Given the description of an element on the screen output the (x, y) to click on. 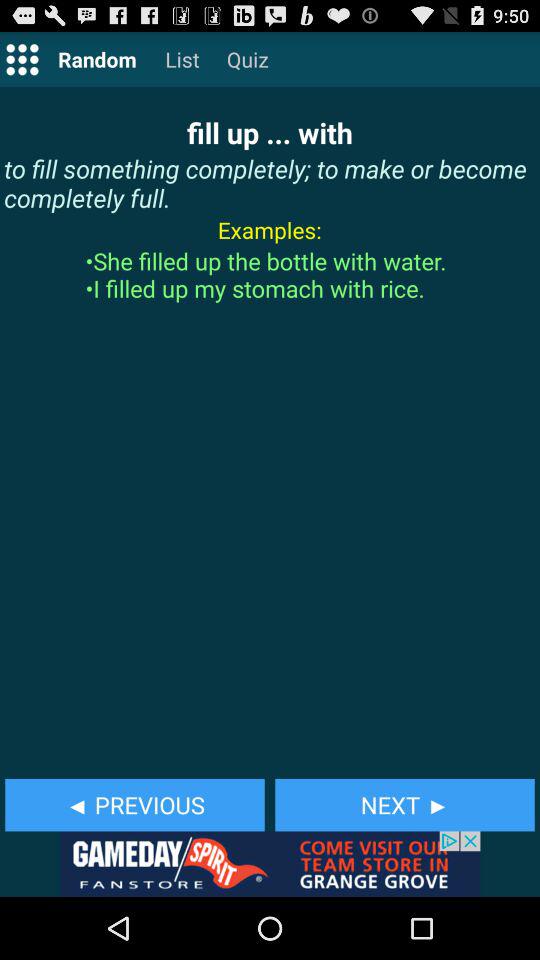
menu option (22, 58)
